Given the description of an element on the screen output the (x, y) to click on. 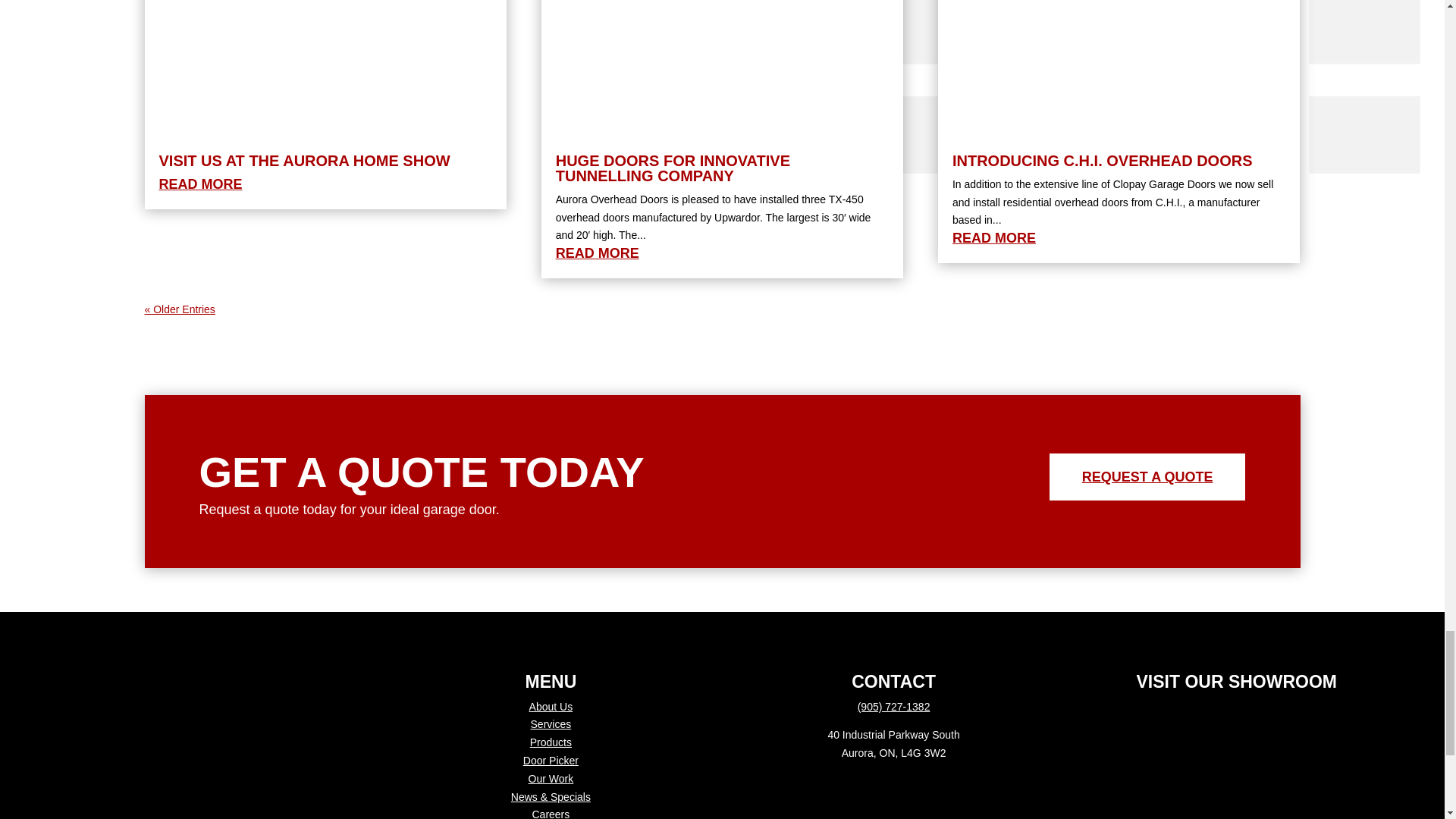
READ MORE (597, 253)
READ MORE (200, 183)
HUGE DOORS FOR INNOVATIVE TUNNELLING COMPANY (673, 168)
VISIT US AT THE AURORA HOME SHOW (303, 160)
